Given the description of an element on the screen output the (x, y) to click on. 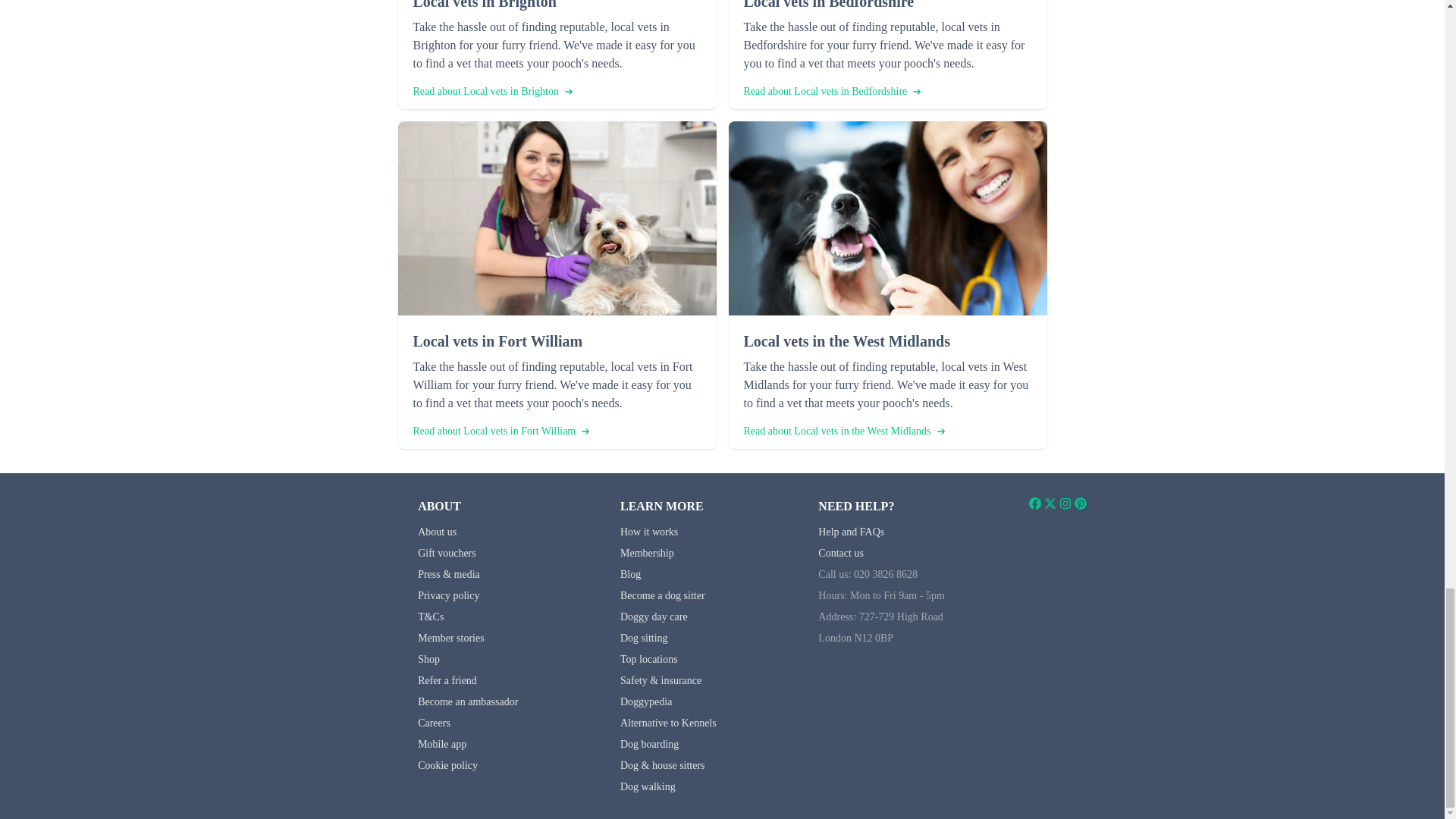
Privacy policy (448, 595)
Read about Local vets in the West Midlands (842, 431)
Read about Local vets in Brighton (492, 91)
Local vets in Fort William (556, 341)
Read about Local vets in Fort William (500, 431)
Local vets in Brighton (556, 6)
Local vets in Bedfordshire (886, 6)
Read about Local vets in Bedfordshire (831, 91)
Local vets in the West Midlands (886, 341)
Gift vouchers (446, 552)
